Given the description of an element on the screen output the (x, y) to click on. 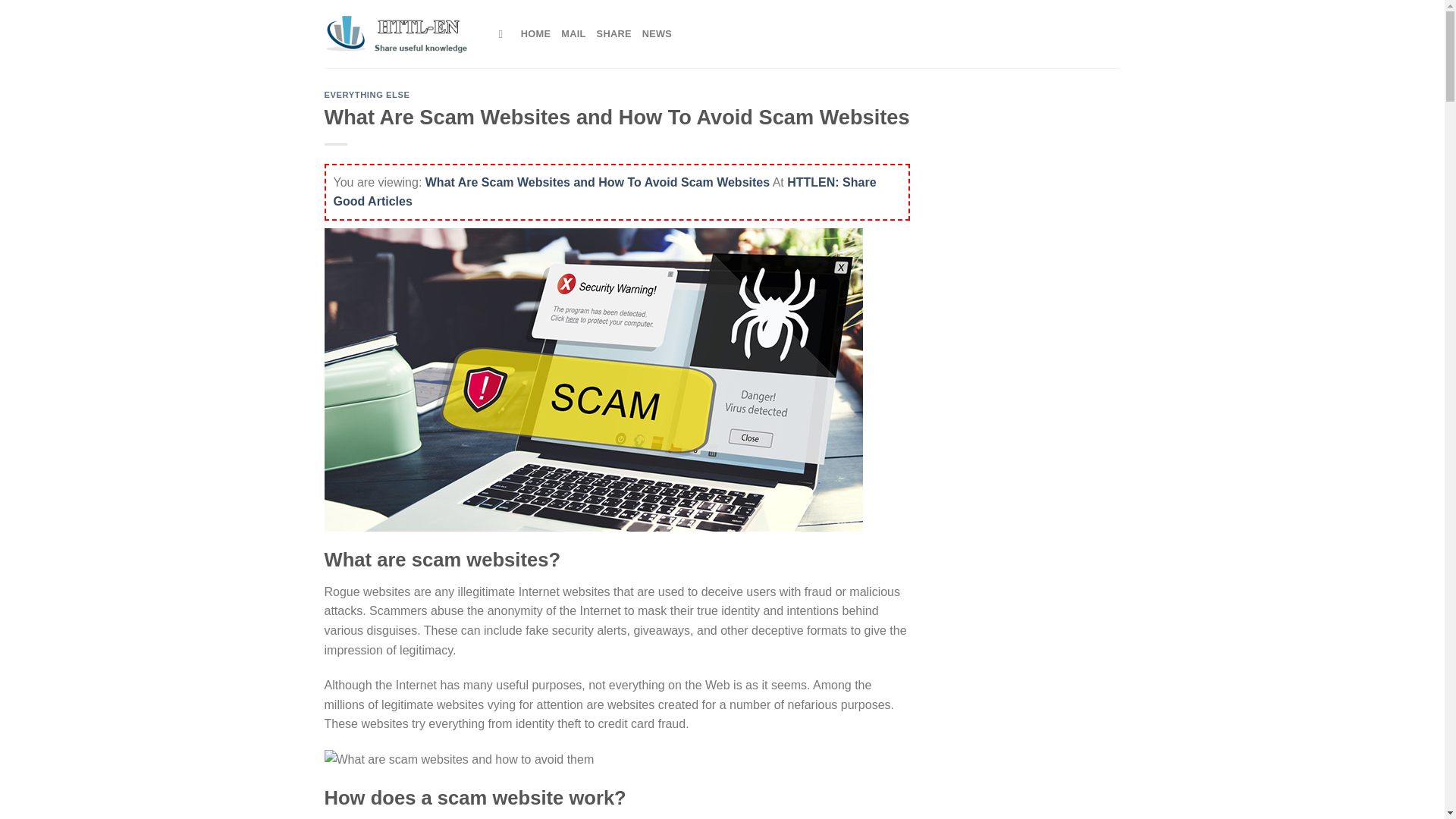
EVERYTHING ELSE (367, 94)
NEWS (656, 33)
What Are Scam Websites and How To Avoid Scam Websites (597, 182)
HTTLEN: Share Good Articles (604, 192)
SHARE (613, 33)
HOME (535, 33)
